Given the description of an element on the screen output the (x, y) to click on. 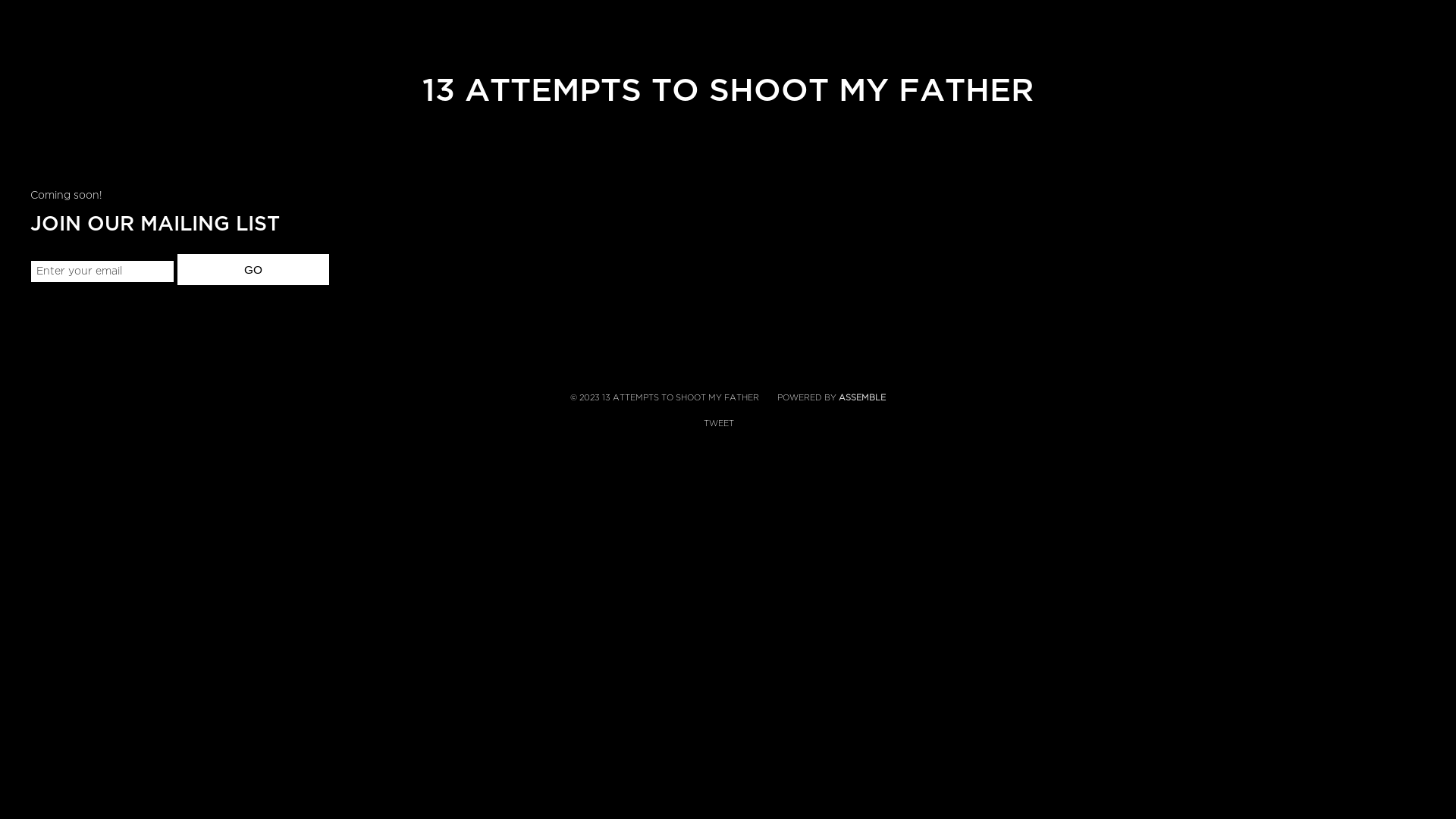
ASSEMBLE Element type: text (861, 397)
GO Element type: text (253, 269)
TWEET Element type: text (718, 423)
